Given the description of an element on the screen output the (x, y) to click on. 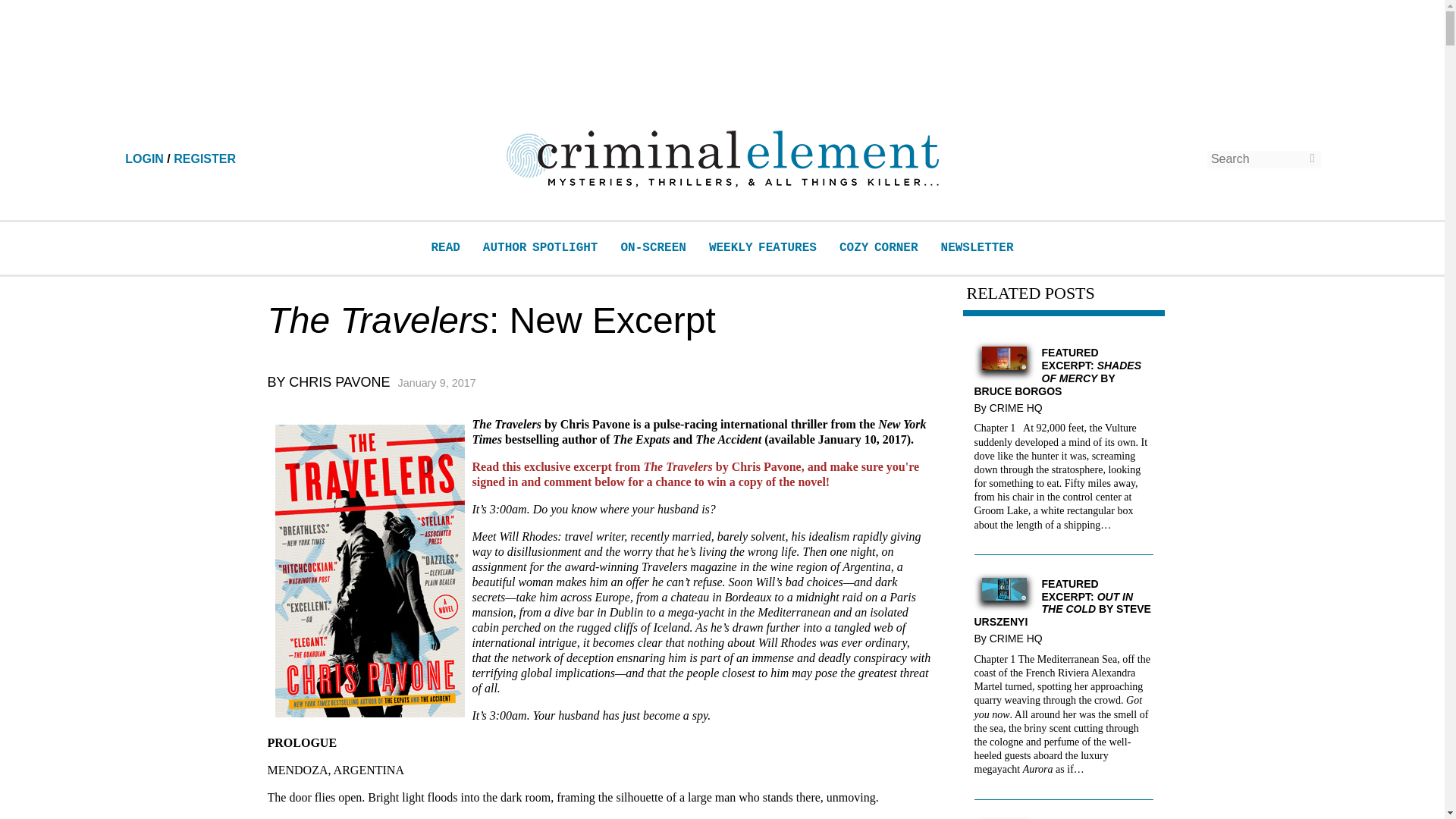
REGISTER (204, 158)
CHRIS PAVONE (339, 381)
NEWSLETTER (976, 247)
Crime HQ (1019, 638)
COZY CORNER (879, 247)
LOGIN (144, 158)
AUTHOR SPOTLIGHT (540, 247)
Crime HQ (1019, 408)
ON-SCREEN (652, 247)
READ (445, 247)
Chris Pavone (339, 381)
WEEKLY FEATURES (762, 247)
